Given the description of an element on the screen output the (x, y) to click on. 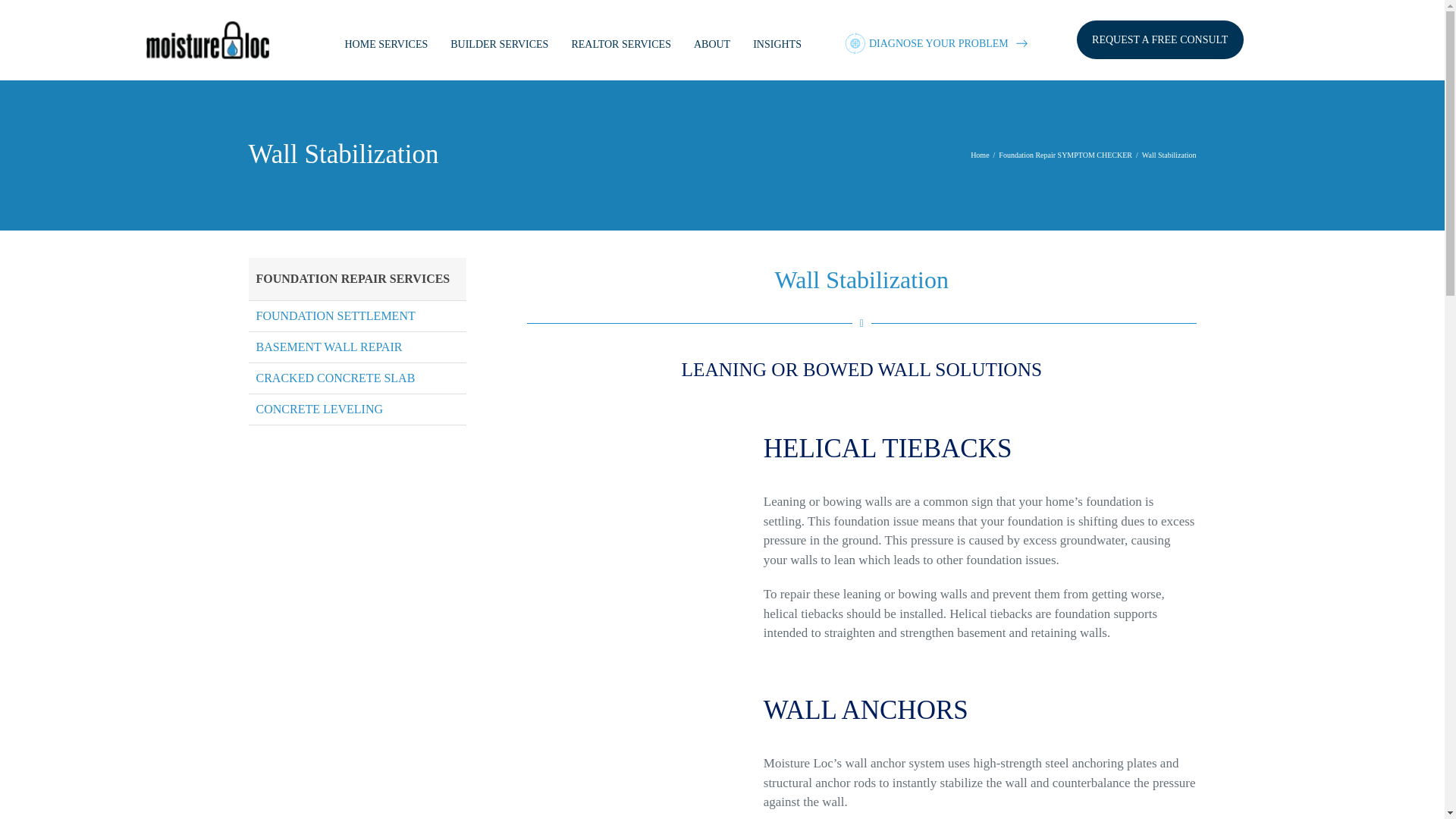
HOME SERVICES (385, 43)
REALTOR SERVICES (861, 339)
ABOUT (620, 43)
BUILDER SERVICES (712, 43)
